Given the description of an element on the screen output the (x, y) to click on. 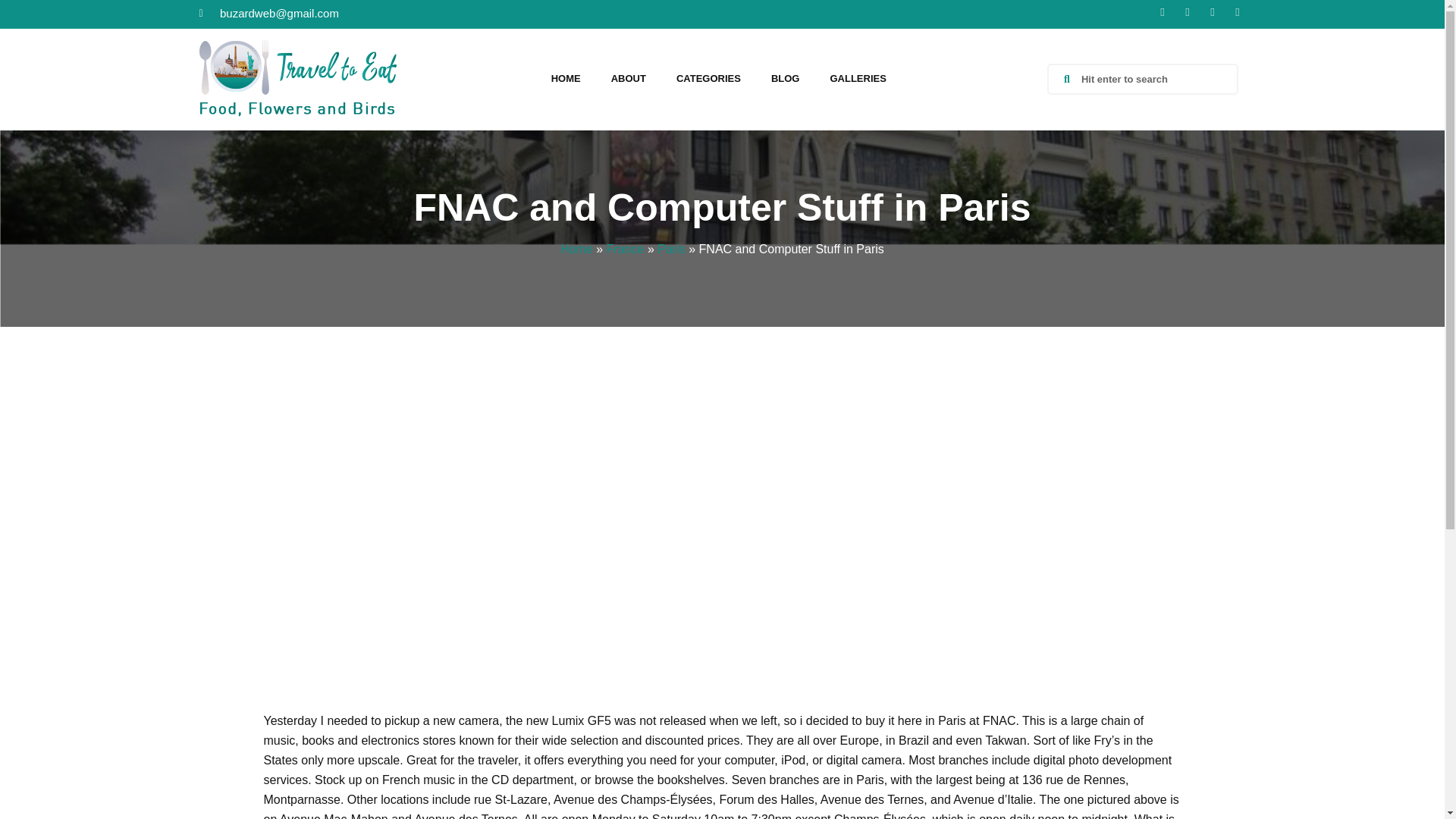
Paris (671, 248)
CATEGORIES (708, 78)
HOME (566, 78)
Home (576, 248)
ABOUT (628, 78)
Search (1151, 79)
France (626, 248)
